Given the description of an element on the screen output the (x, y) to click on. 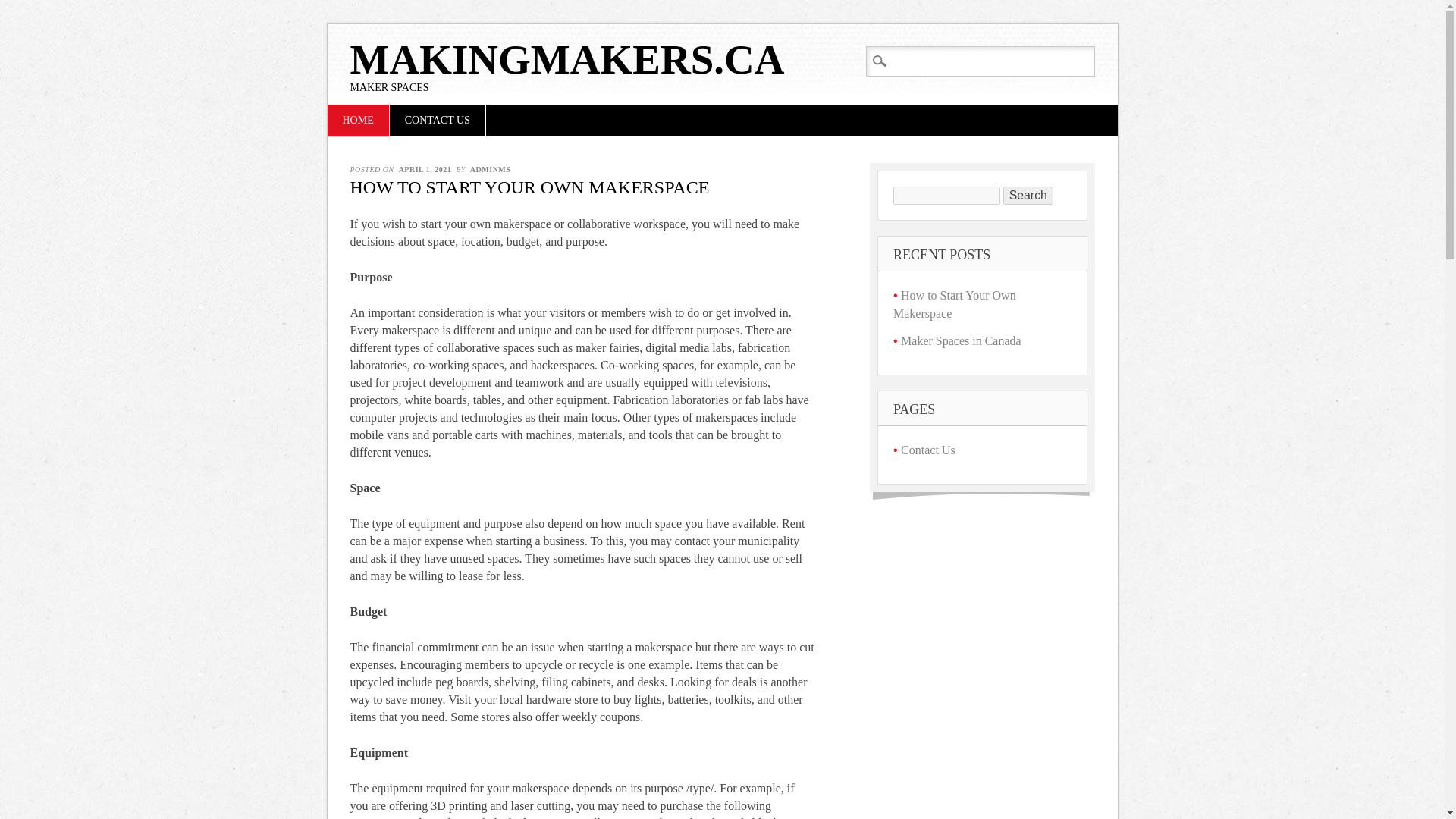
CONTACT US (437, 119)
Search (24, 9)
8:37 pm (425, 169)
Permalink to How to Start Your Own Makerspace (530, 187)
APRIL 1, 2021 (425, 169)
Contact Us (928, 449)
Search (1027, 195)
HOME (357, 119)
How to Start Your Own Makerspace (954, 304)
Search (1027, 195)
